Given the description of an element on the screen output the (x, y) to click on. 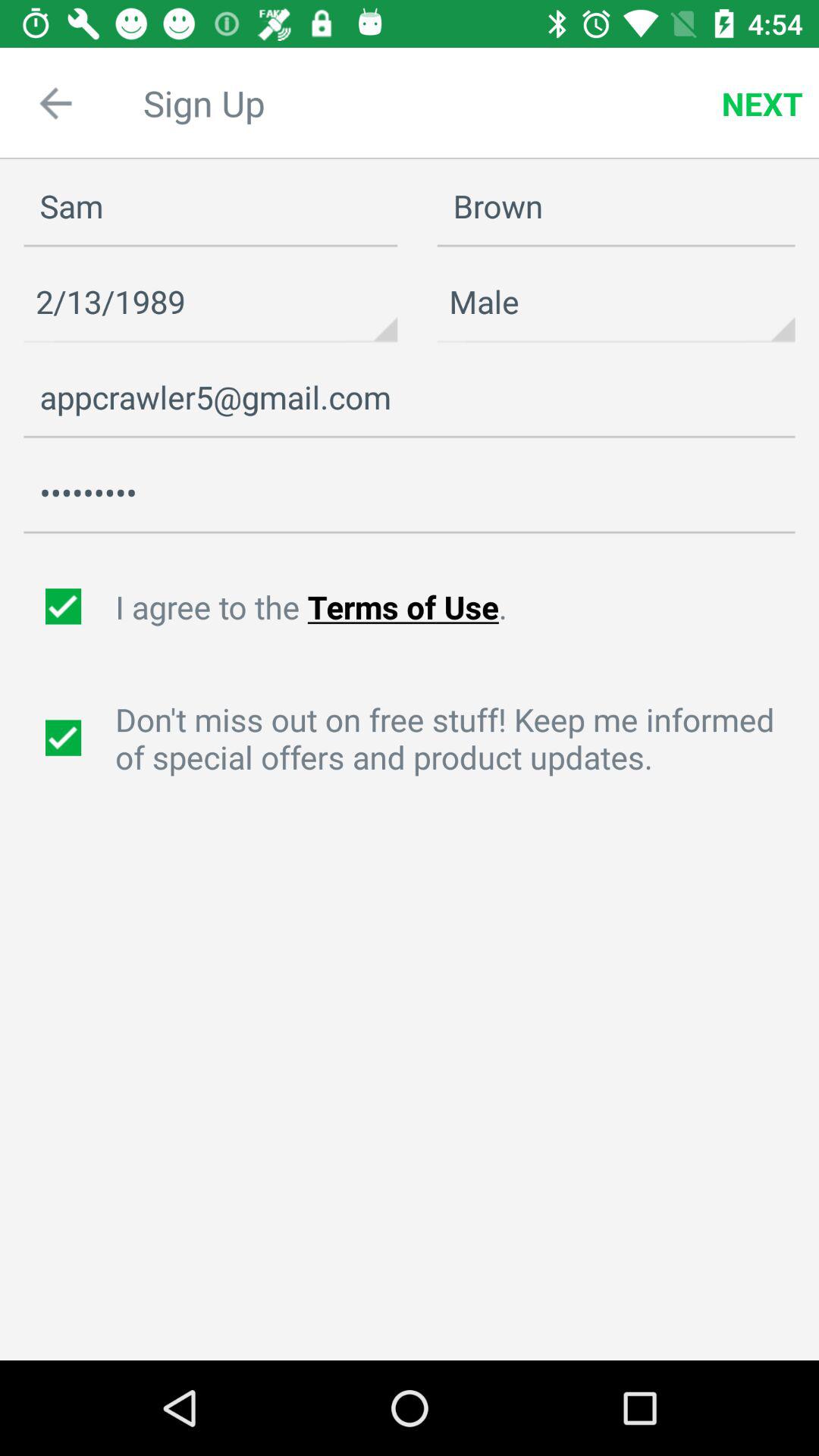
turn off the appcrawler5@gmail.com item (409, 397)
